Given the description of an element on the screen output the (x, y) to click on. 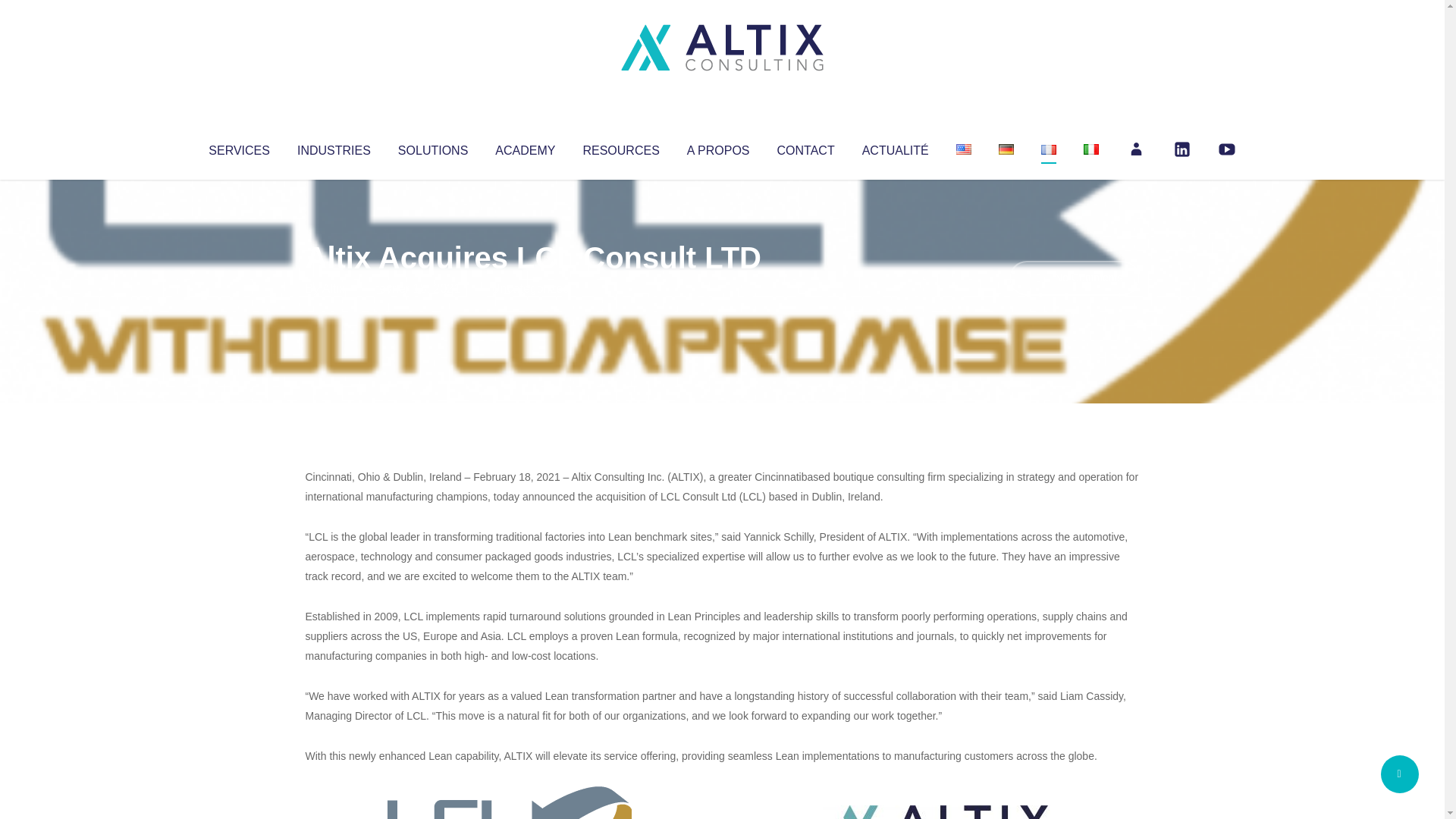
SOLUTIONS (432, 146)
SERVICES (238, 146)
Altix (333, 287)
INDUSTRIES (334, 146)
Articles par Altix (333, 287)
Uncategorized (530, 287)
A PROPOS (718, 146)
No Comments (1073, 278)
RESOURCES (620, 146)
ACADEMY (524, 146)
